Given the description of an element on the screen output the (x, y) to click on. 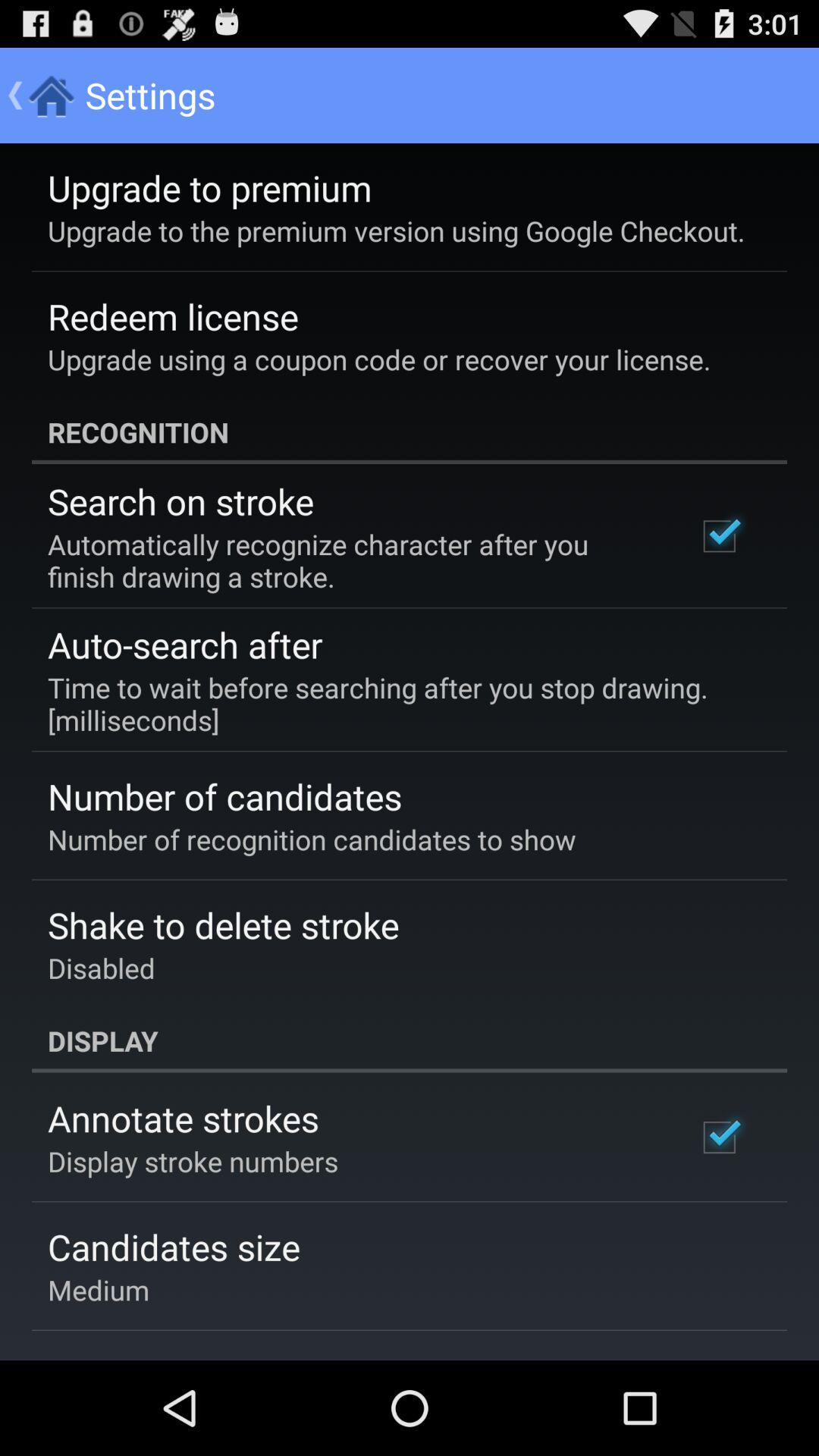
launch the app below the search on stroke (351, 560)
